Given the description of an element on the screen output the (x, y) to click on. 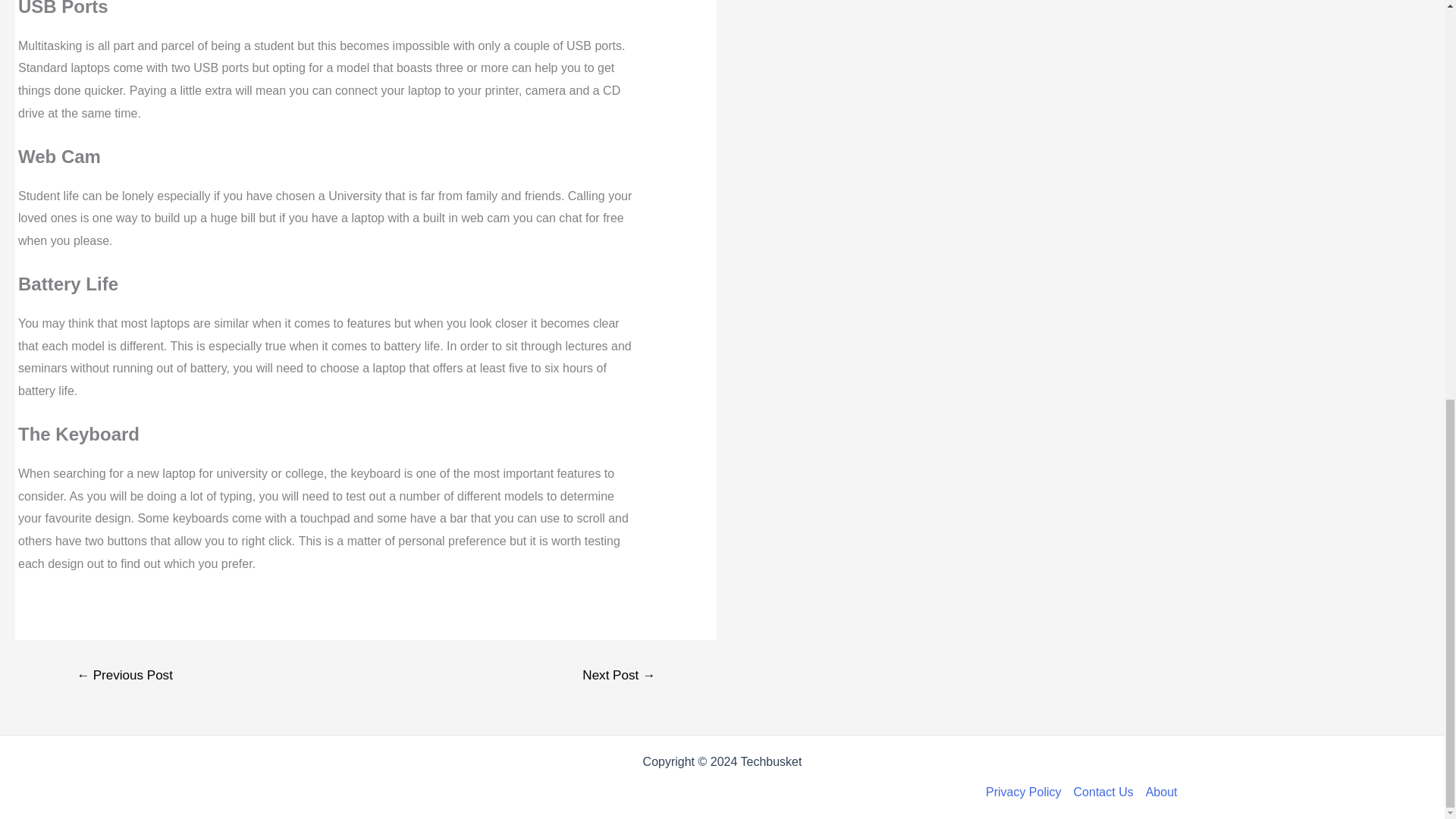
Privacy Policy (1026, 792)
Contact Us (1103, 792)
About (1158, 792)
